Given the description of an element on the screen output the (x, y) to click on. 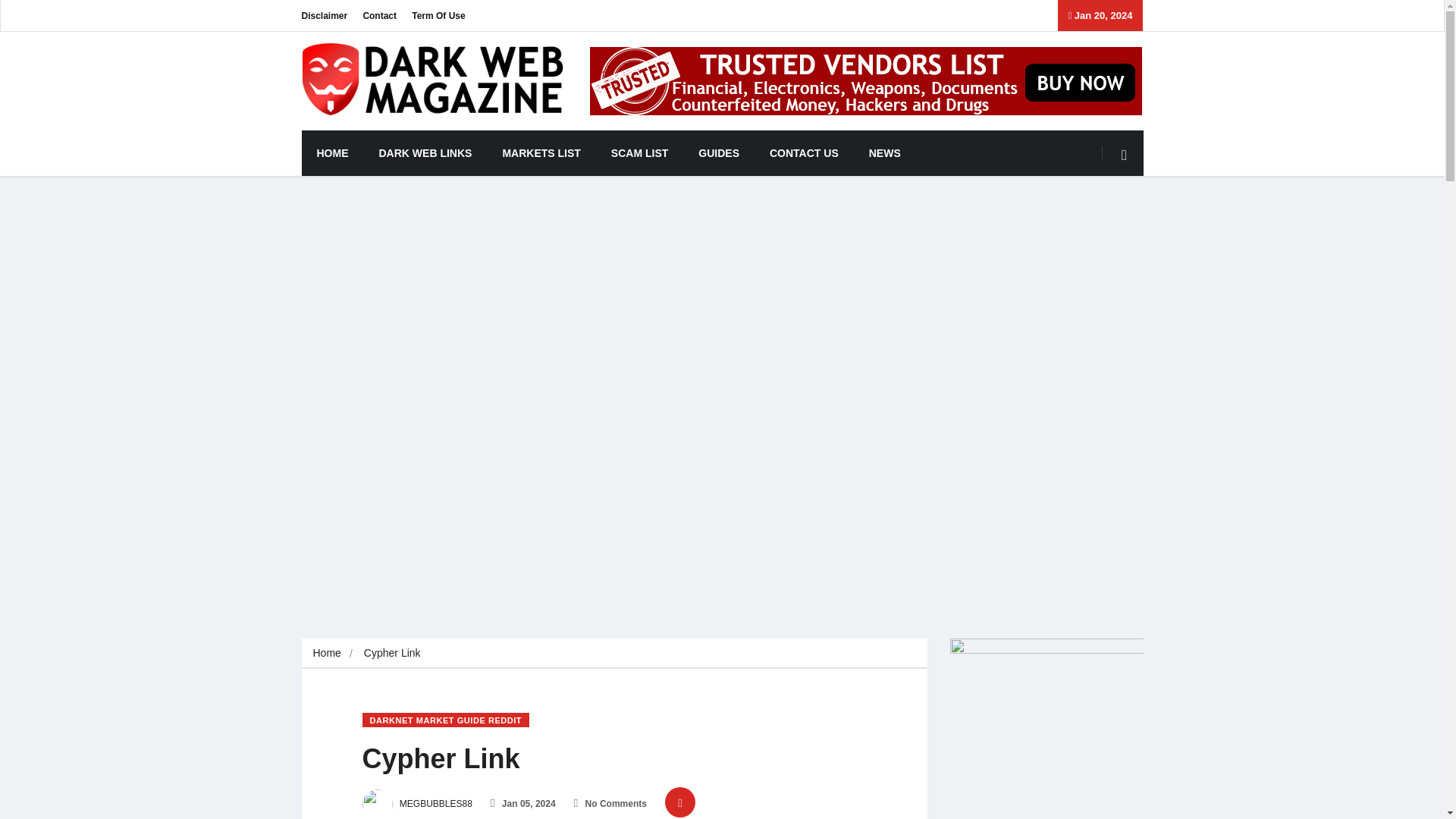
DARK WEB LINKS (425, 153)
NEWS (884, 153)
GUIDES (718, 153)
MARKETS LIST (540, 153)
Term Of Use (438, 15)
Disclaimer (324, 15)
HOME (332, 153)
Contact (379, 15)
MEGBUBBLES88 (416, 803)
Home (326, 653)
